Given the description of an element on the screen output the (x, y) to click on. 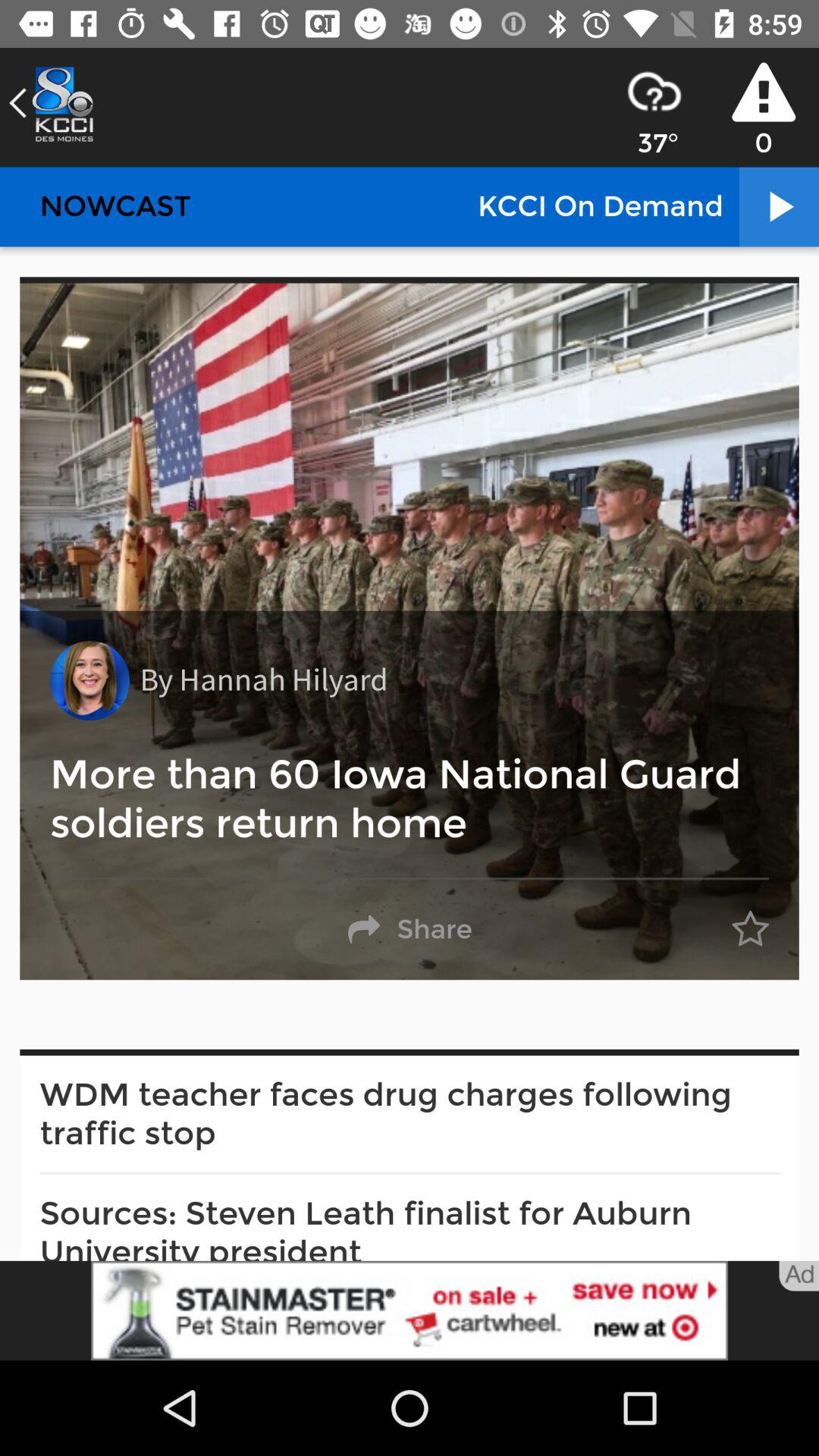
click on the text ad which is at the bottom (799, 1275)
